Given the description of an element on the screen output the (x, y) to click on. 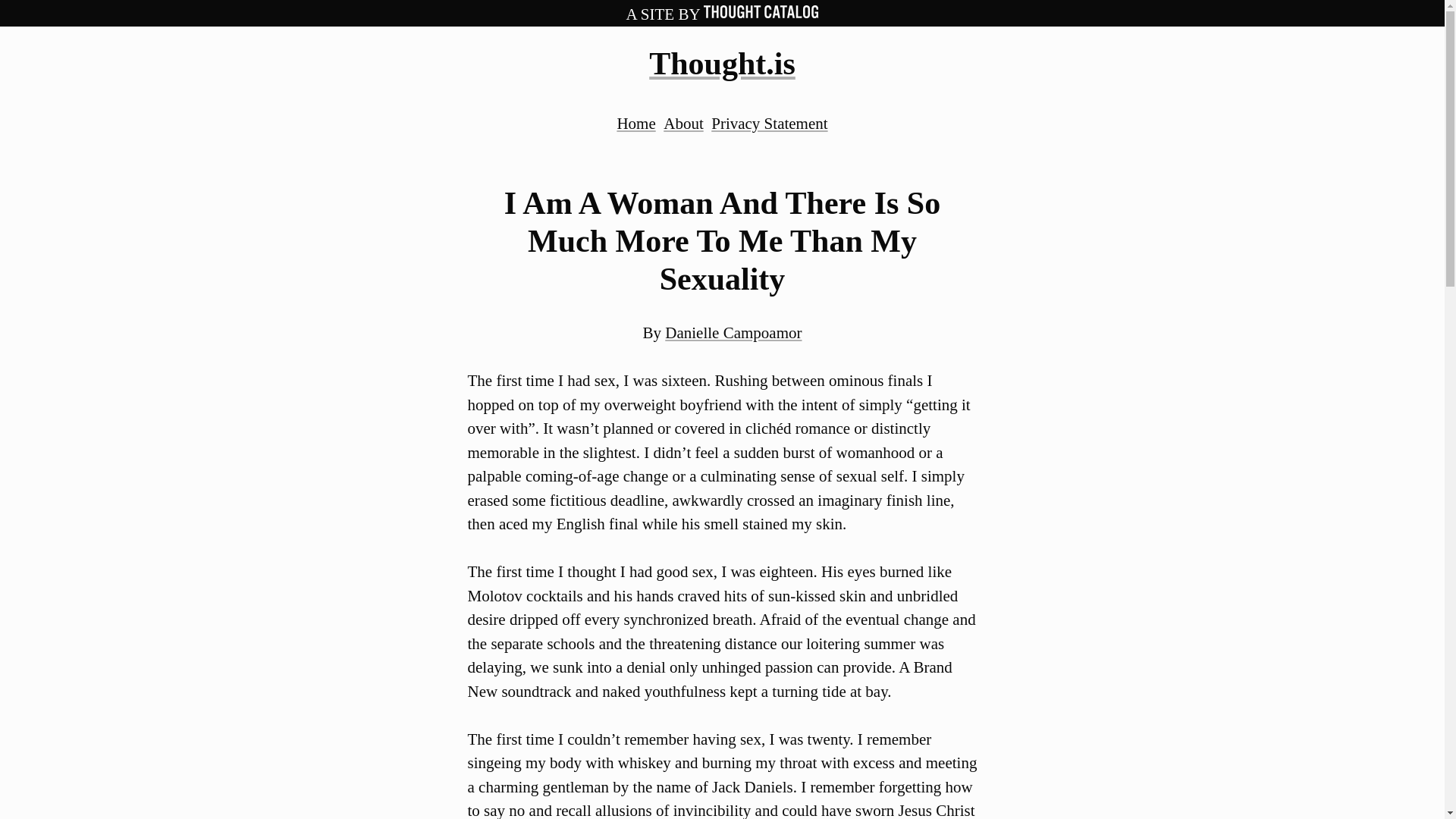
THOUGHT CATALOG (760, 13)
Home (635, 123)
About (683, 123)
Thought.is (721, 63)
THOUGHT CATALOG (760, 11)
Posts by Danielle Campoamor (733, 332)
Privacy Statement (769, 123)
Danielle Campoamor (733, 332)
